Given the description of an element on the screen output the (x, y) to click on. 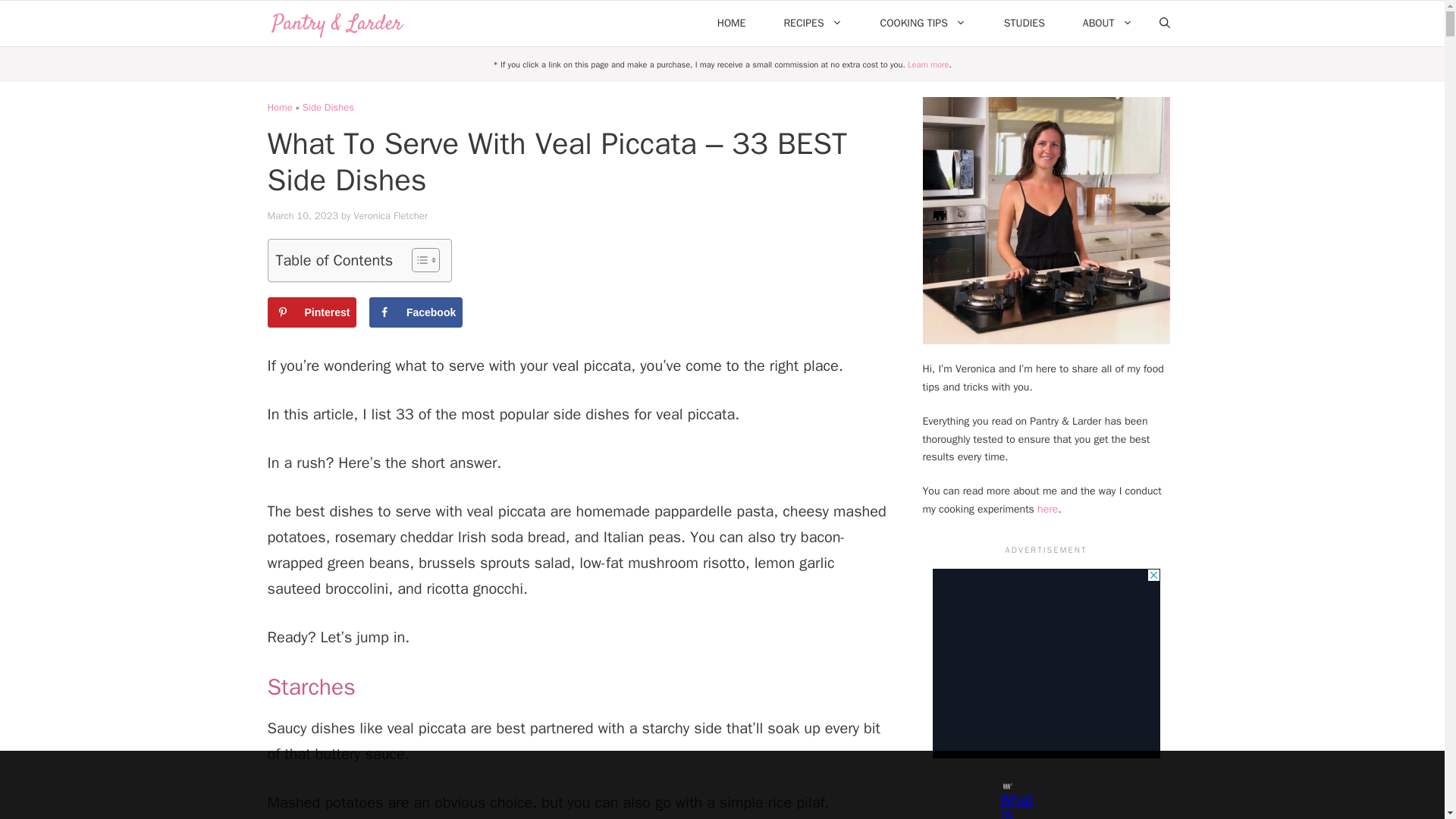
Share on Facebook (416, 312)
ABOUT (1107, 22)
STUDIES (1024, 22)
RECIPES (812, 22)
Save to Pinterest (311, 312)
HOME (731, 22)
Home (279, 106)
Facebook (416, 312)
Side Dishes (327, 106)
COOKING TIPS (923, 22)
Pinterest (311, 312)
Learn more (928, 63)
